Given the description of an element on the screen output the (x, y) to click on. 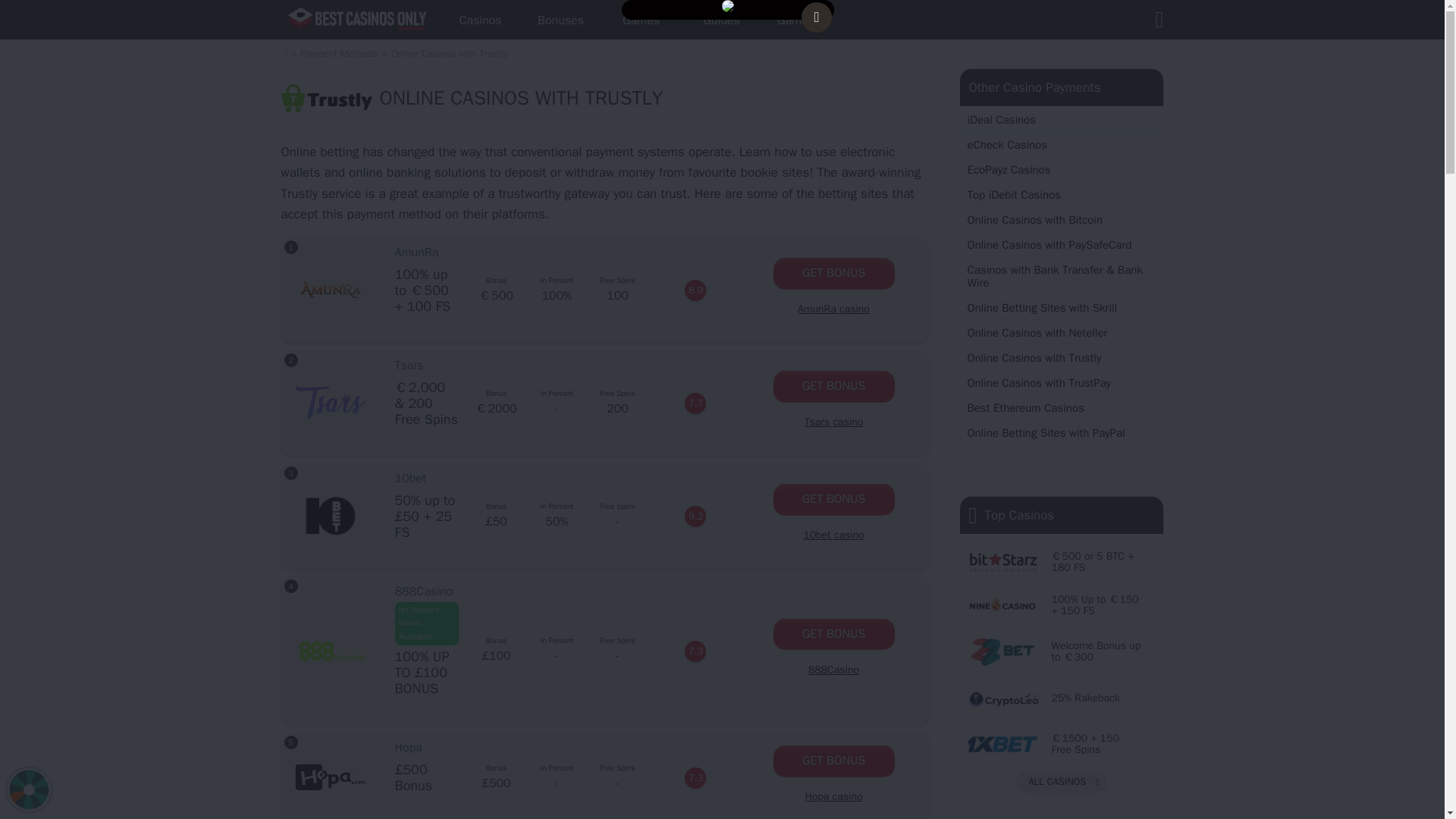
Games (641, 20)
Bonuses (560, 20)
Casinos (480, 20)
Casinos (480, 20)
Guides (722, 20)
Bonuses (560, 20)
BestCasinosOnly.com (360, 20)
